Given the description of an element on the screen output the (x, y) to click on. 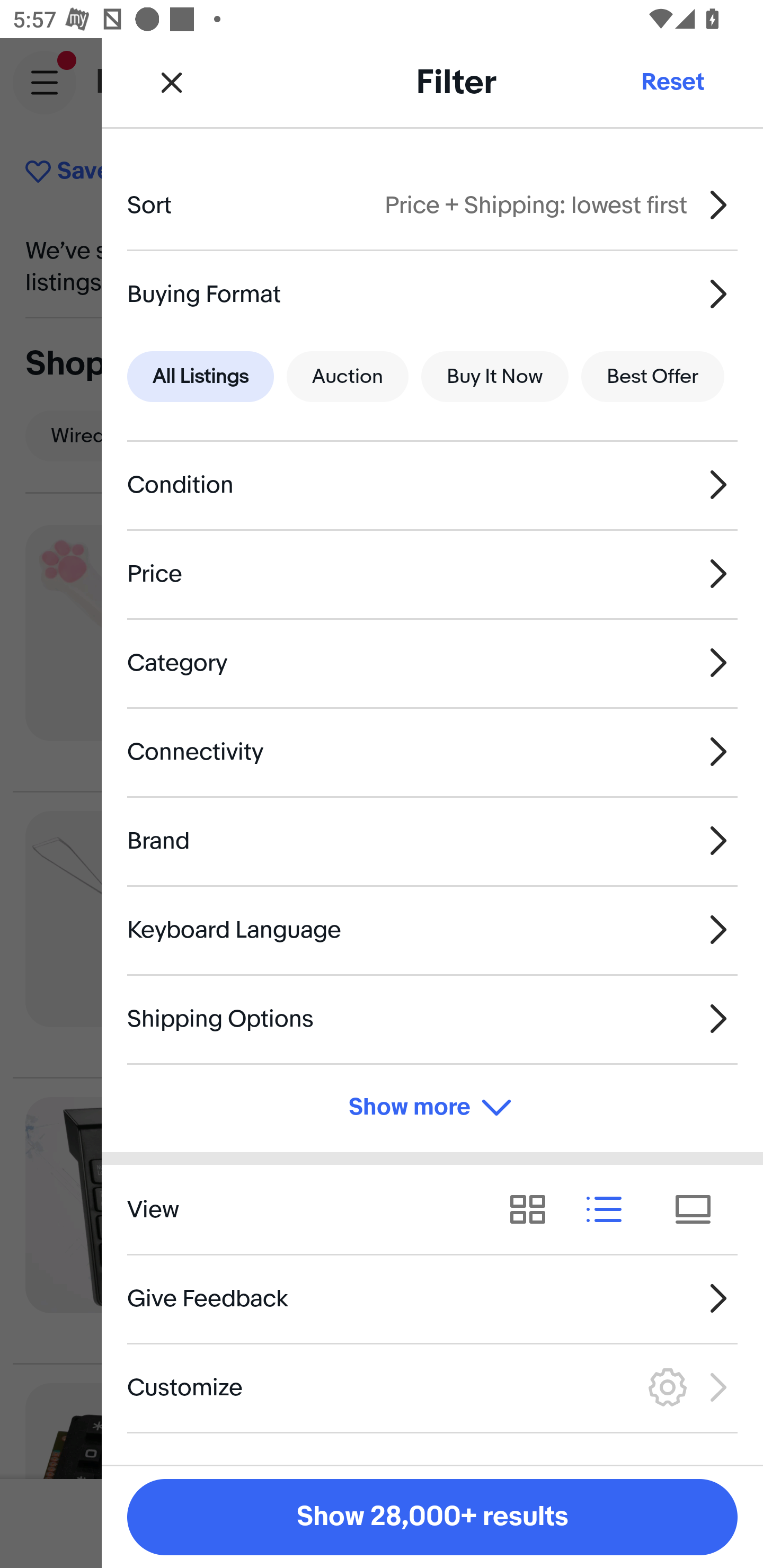
Close Filter (171, 81)
Reset (672, 81)
Buying Format (432, 293)
All Listings (200, 376)
Auction (347, 376)
Buy It Now (494, 376)
Best Offer (652, 376)
Condition (432, 484)
Price (432, 573)
Category (432, 662)
Connectivity (432, 751)
Brand (432, 840)
Keyboard Language (432, 929)
Shipping Options (432, 1018)
Show more (432, 1107)
View results as grid (533, 1209)
View results as list (610, 1209)
View results as tiles (699, 1209)
Customize (432, 1386)
Show 28,000+ results (432, 1516)
